Given the description of an element on the screen output the (x, y) to click on. 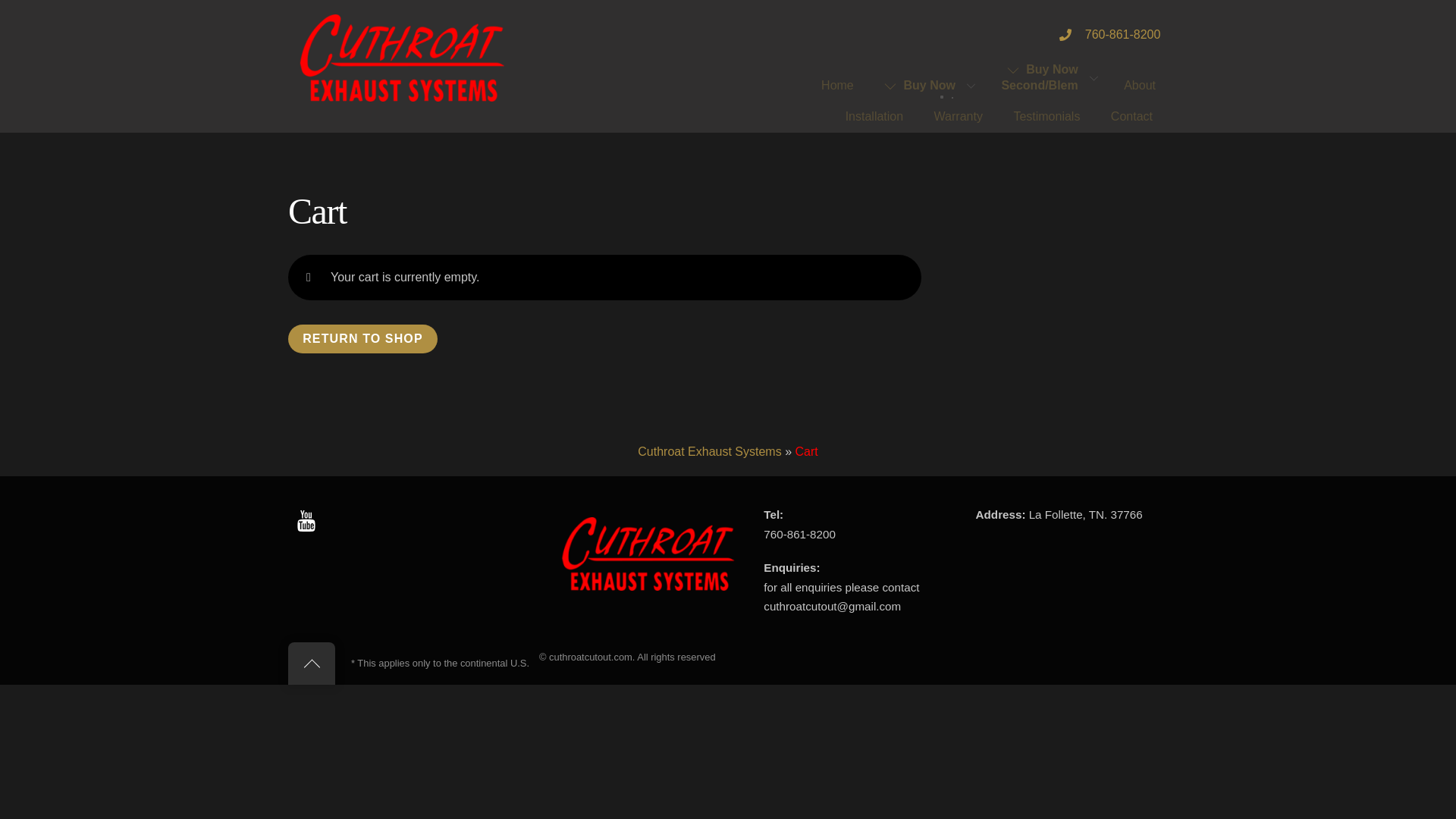
Home (837, 85)
Installation (873, 116)
Testimonials (1045, 116)
Contact (1131, 116)
About (1139, 85)
Cuthroat Exhaust Systems (708, 450)
760-861-8200 (1109, 34)
RETURN TO SHOP (363, 338)
logo-cuthroat-379 (401, 58)
Warranty (957, 116)
